Given the description of an element on the screen output the (x, y) to click on. 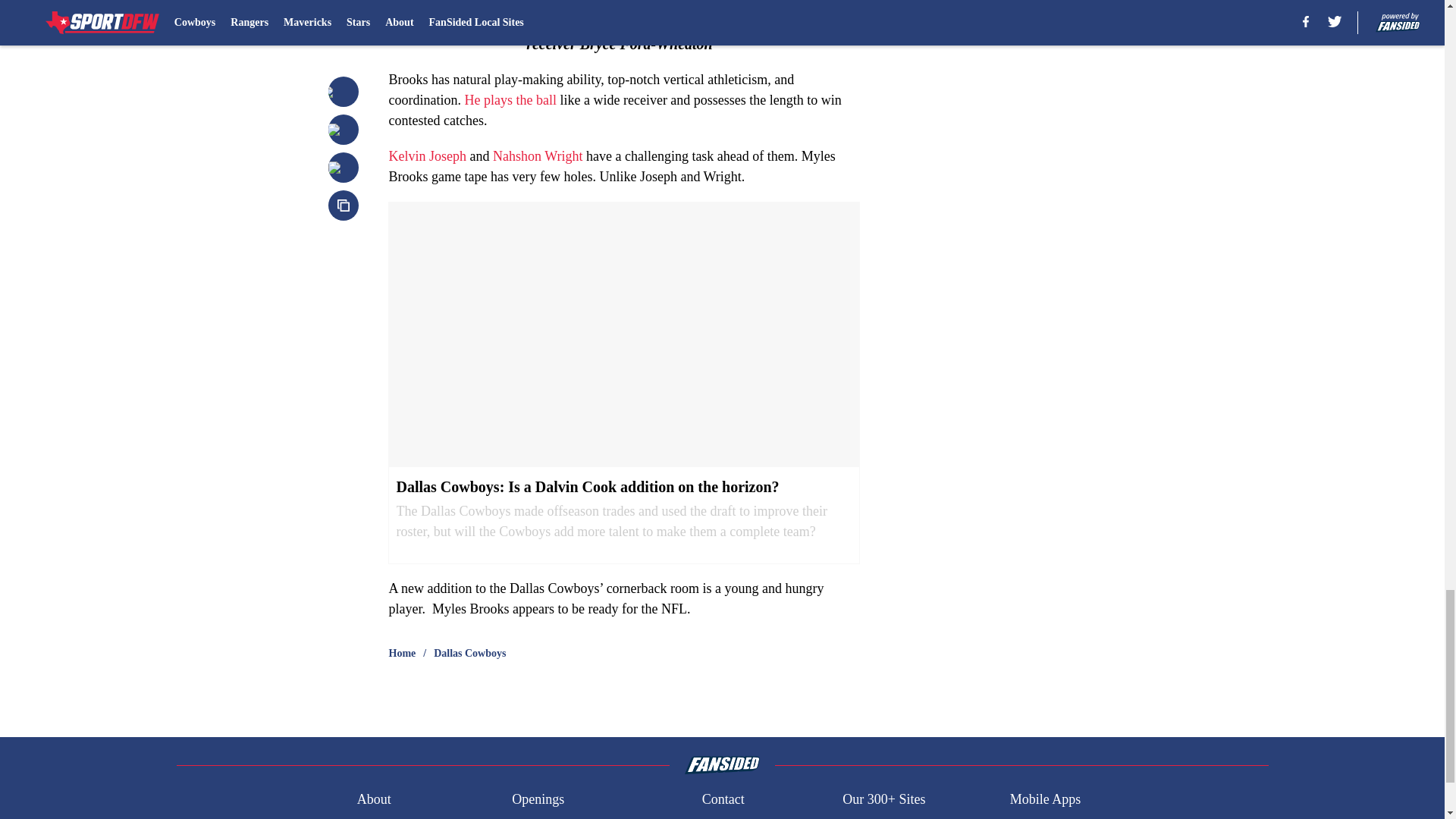
Mobile Apps (1045, 799)
FanSided Daily (399, 818)
Pitch a Story (547, 818)
Home (401, 653)
He plays the ball (510, 99)
Terms of Use (879, 818)
Dallas Cowboys (469, 653)
About (373, 799)
Nahshon Wright (537, 155)
